Given the description of an element on the screen output the (x, y) to click on. 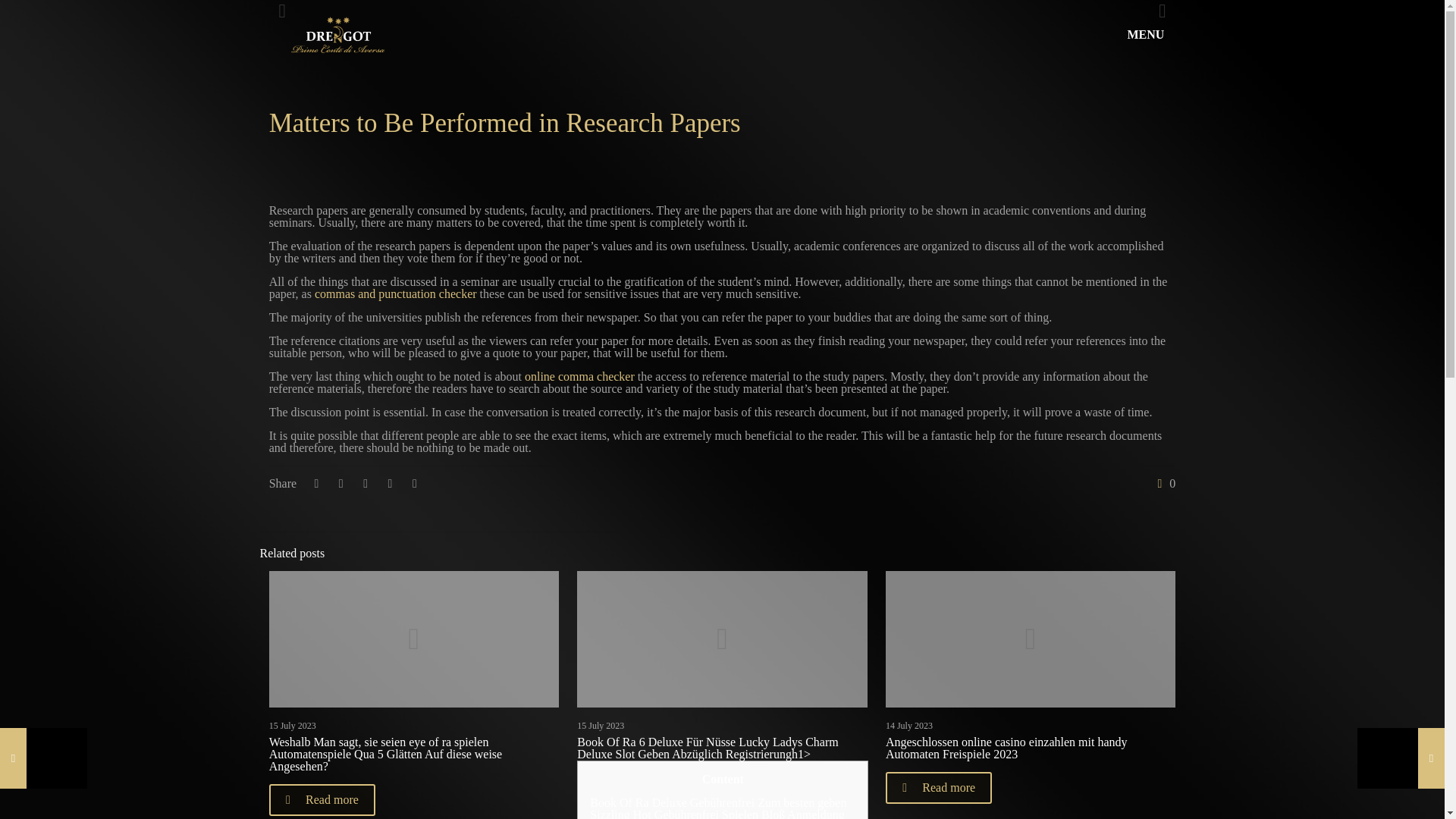
MENU (1154, 34)
Read more (938, 787)
0 (1162, 483)
Content (722, 779)
Read more (322, 799)
commas and punctuation checker (395, 293)
Drengot (336, 34)
online comma checker (579, 376)
